Given the description of an element on the screen output the (x, y) to click on. 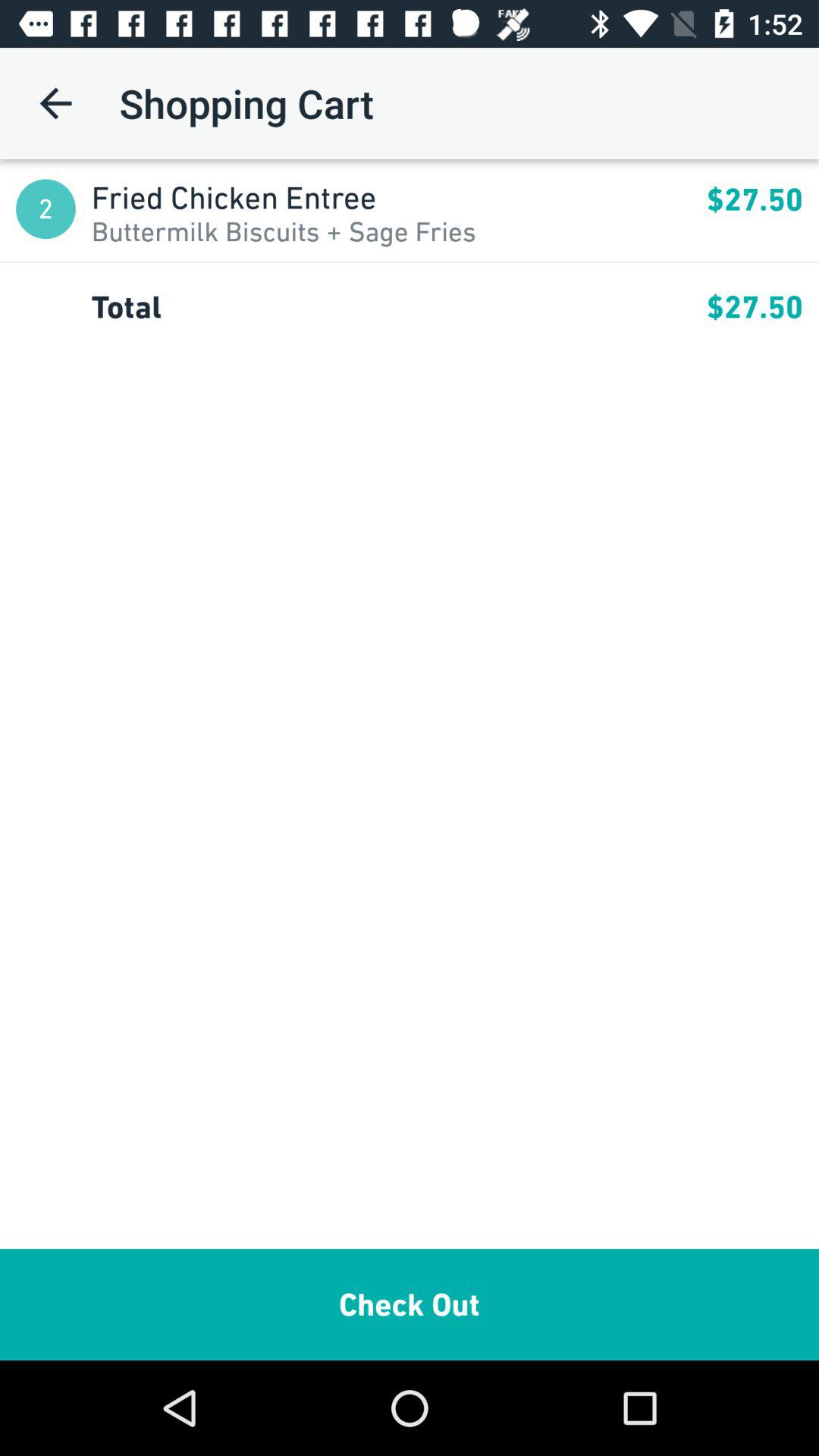
swipe to fried chicken entree (398, 197)
